Given the description of an element on the screen output the (x, y) to click on. 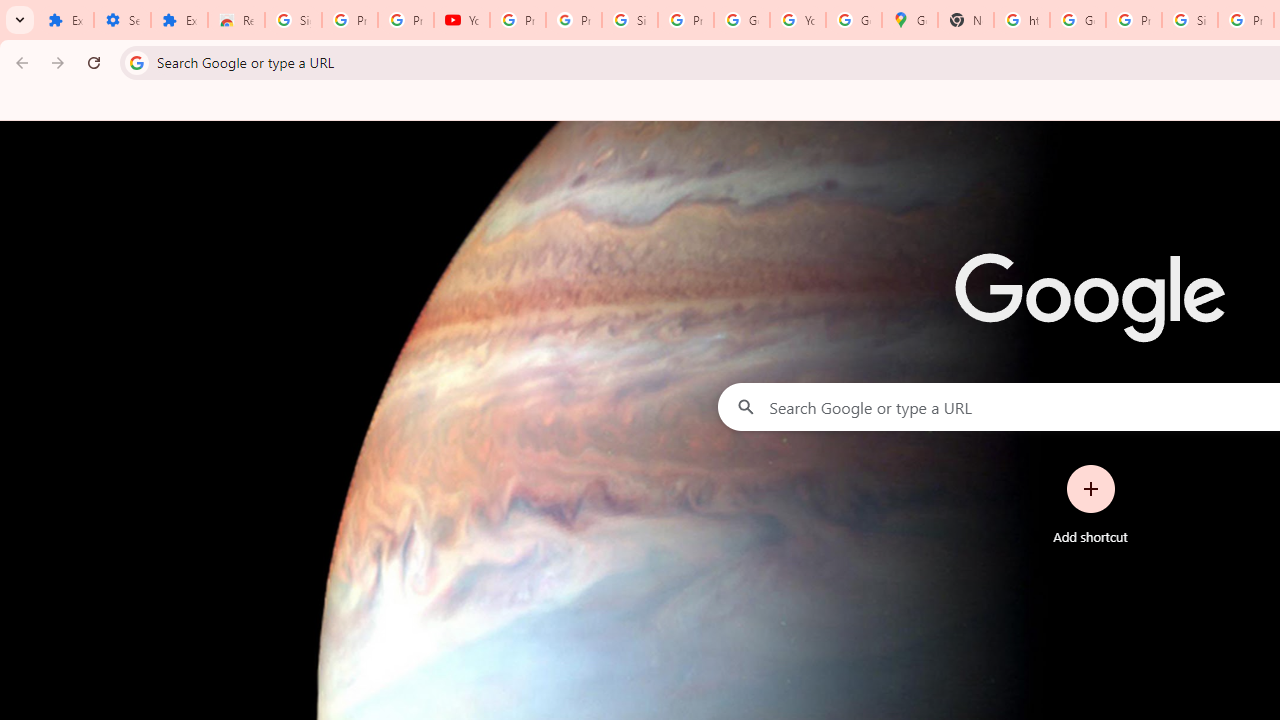
Sign in - Google Accounts (293, 20)
Google Account (742, 20)
Sign in - Google Accounts (629, 20)
Extensions (65, 20)
Search icon (136, 62)
YouTube (797, 20)
